Given the description of an element on the screen output the (x, y) to click on. 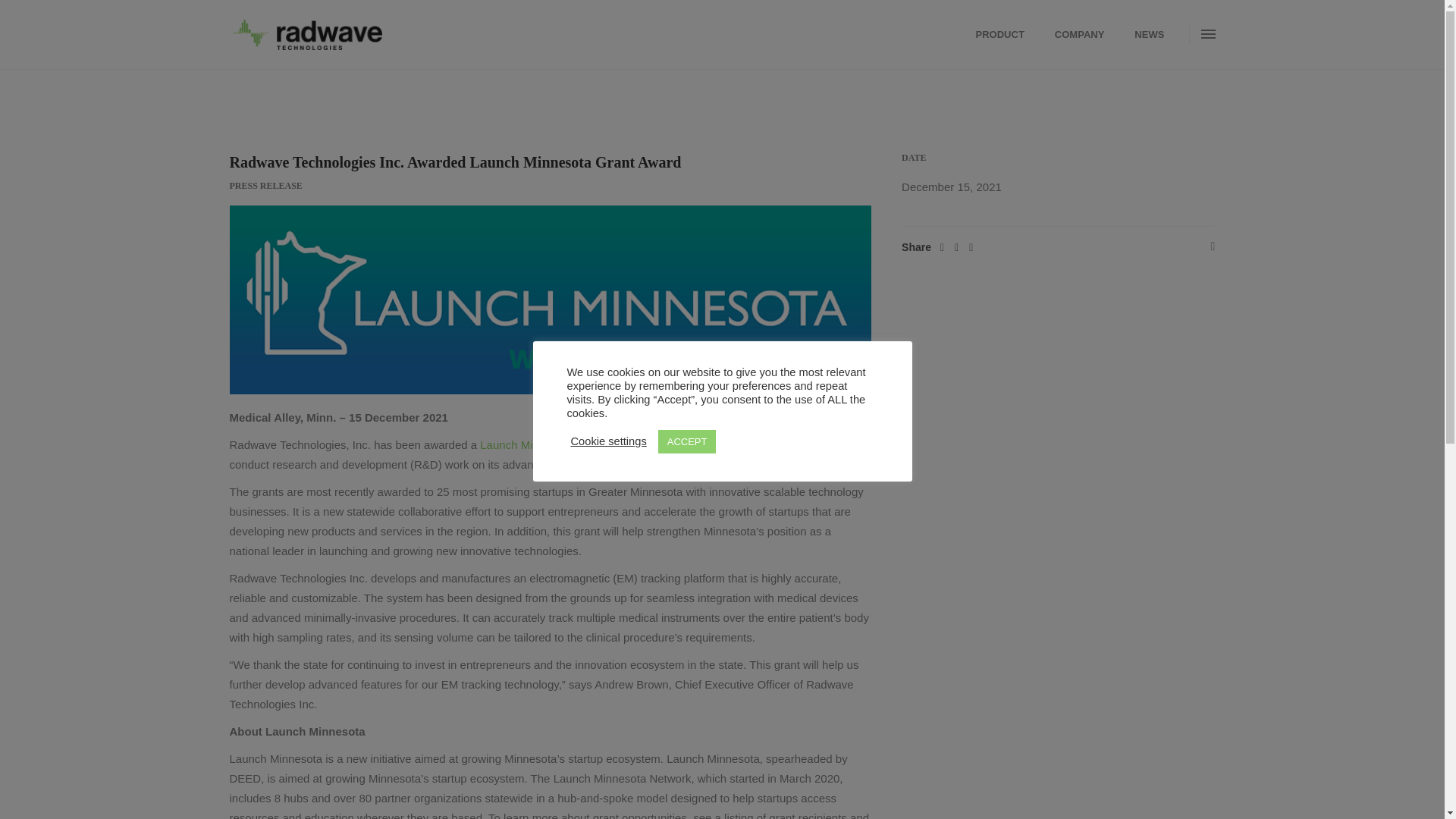
Cookie settings (608, 440)
COMPANY (1079, 34)
PRODUCT (999, 34)
ACCEPT (687, 440)
Launch Minnesota Innovation Grant award (587, 444)
